Given the description of an element on the screen output the (x, y) to click on. 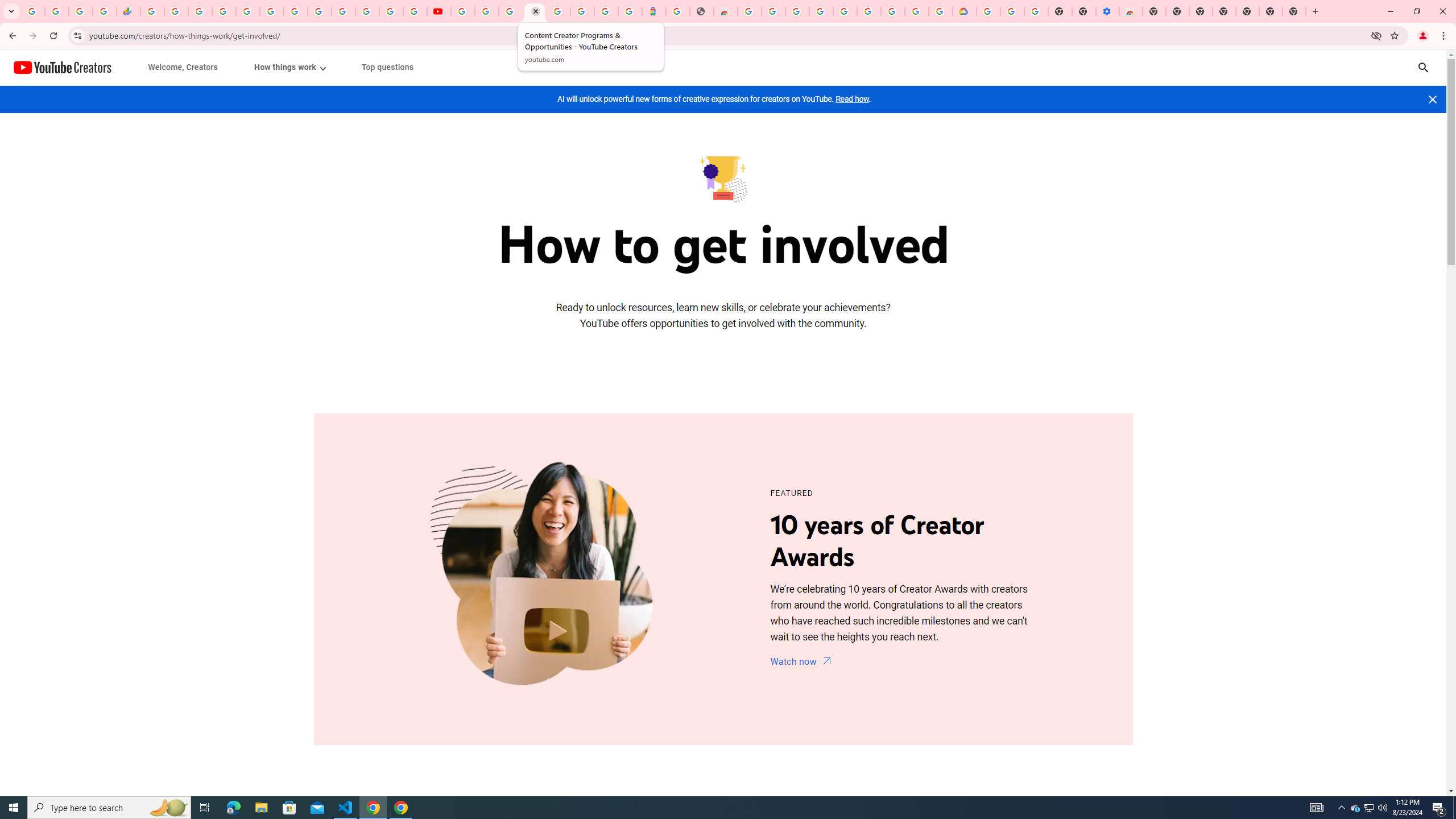
Android TV Policies and Guidelines - Transparency Center (295, 11)
Google Account Help (486, 11)
Sign in - Google Accounts (581, 11)
YouTube (319, 11)
New Tab (1153, 11)
Sign in - Google Accounts (558, 11)
